Given the description of an element on the screen output the (x, y) to click on. 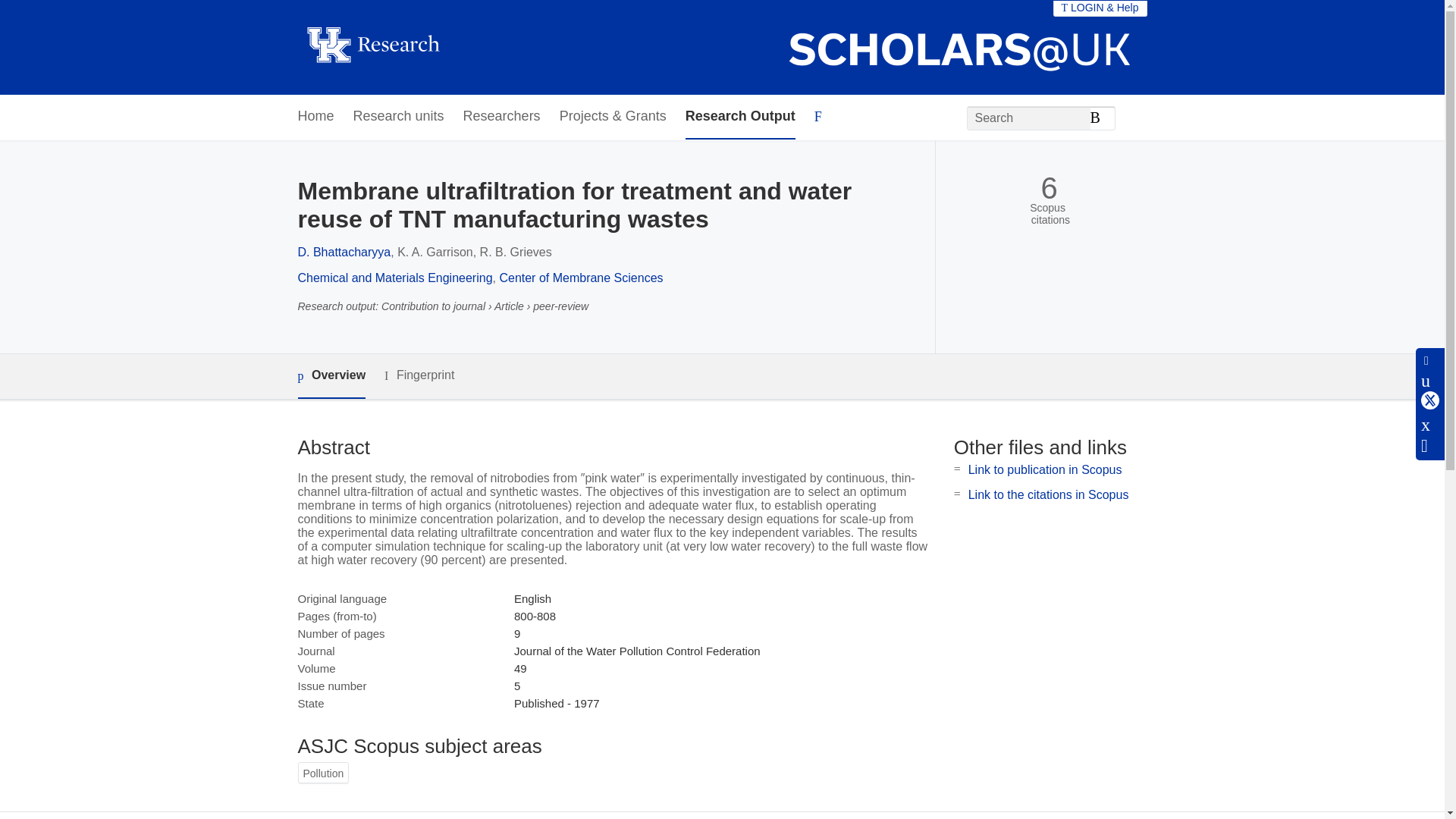
Fingerprint (419, 375)
Center of Membrane Sciences (580, 277)
Research units (398, 117)
D. Bhattacharyya (343, 251)
Researchers (501, 117)
Research Output (739, 117)
Overview (331, 375)
Link to the citations in Scopus (1048, 494)
University of Kentucky Home (372, 47)
Chemical and Materials Engineering (394, 277)
Link to publication in Scopus (1045, 469)
